Given the description of an element on the screen output the (x, y) to click on. 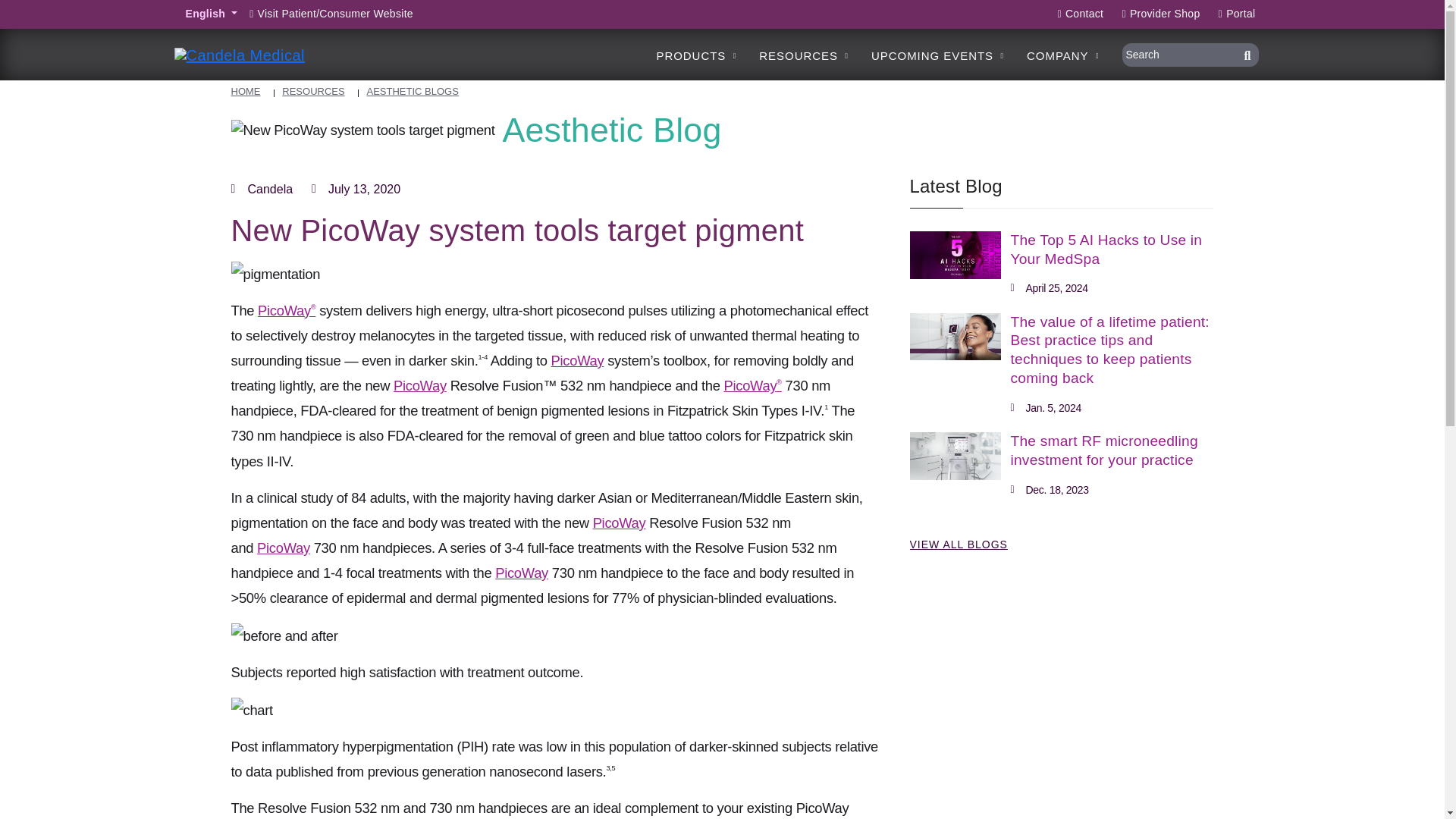
PRODUCTS (696, 55)
chart (251, 709)
New-PicoWay-system-tools-target-pigmen (275, 273)
Provider Shop (1156, 14)
Contact (1077, 14)
English (212, 14)
Portal (1233, 14)
